Given the description of an element on the screen output the (x, y) to click on. 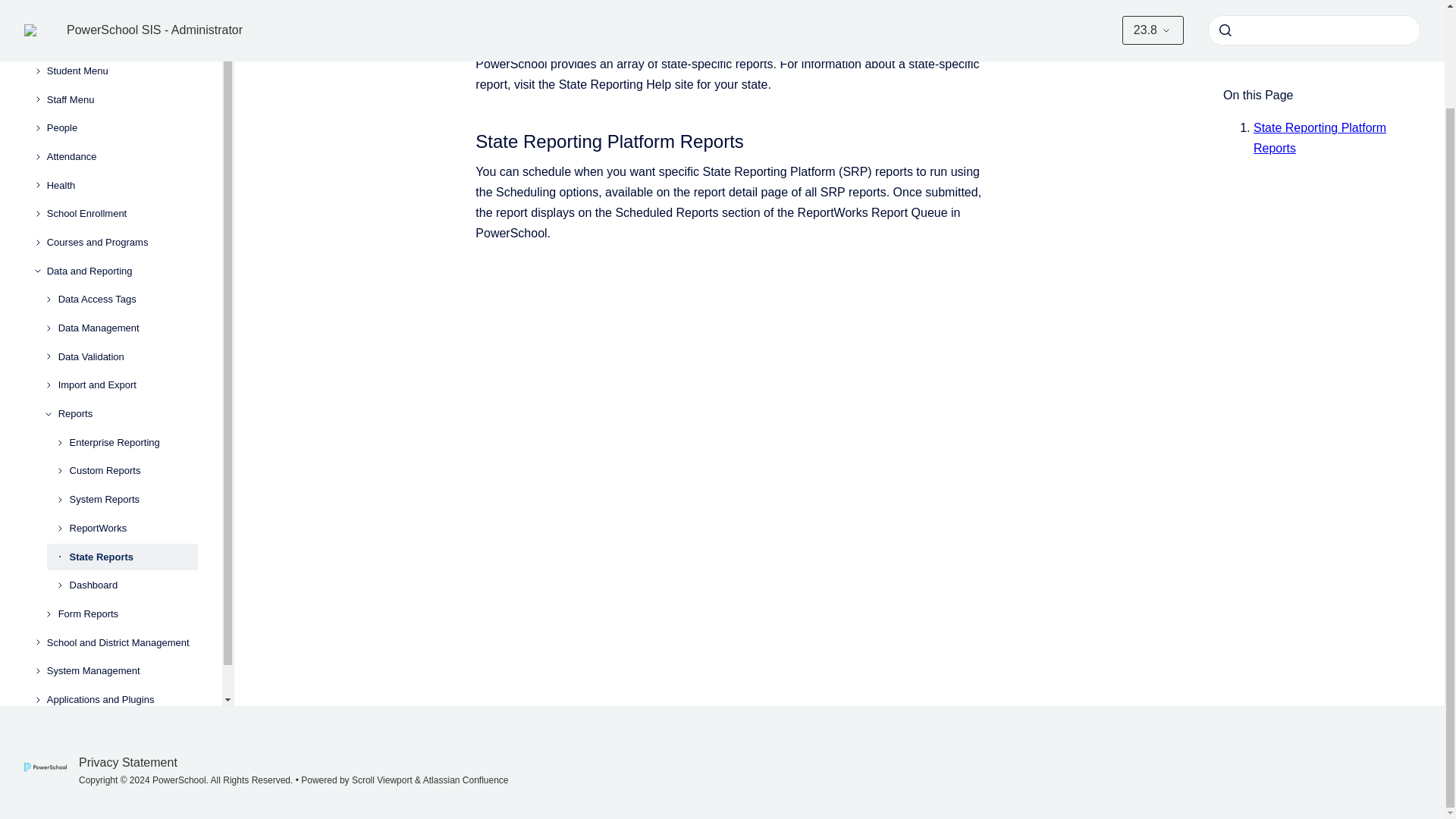
People (122, 127)
Data Access Tags (128, 299)
Attendance (122, 156)
Student Menu (122, 71)
Copy to clipboard (468, 139)
Enterprise Reporting (133, 442)
Data Management (128, 328)
Get Started (122, 42)
Data and Reporting (122, 271)
Health (122, 185)
Search the In-App Help (122, 13)
Import and Export (128, 385)
Reports (128, 413)
Courses and Programs (122, 242)
